Given the description of an element on the screen output the (x, y) to click on. 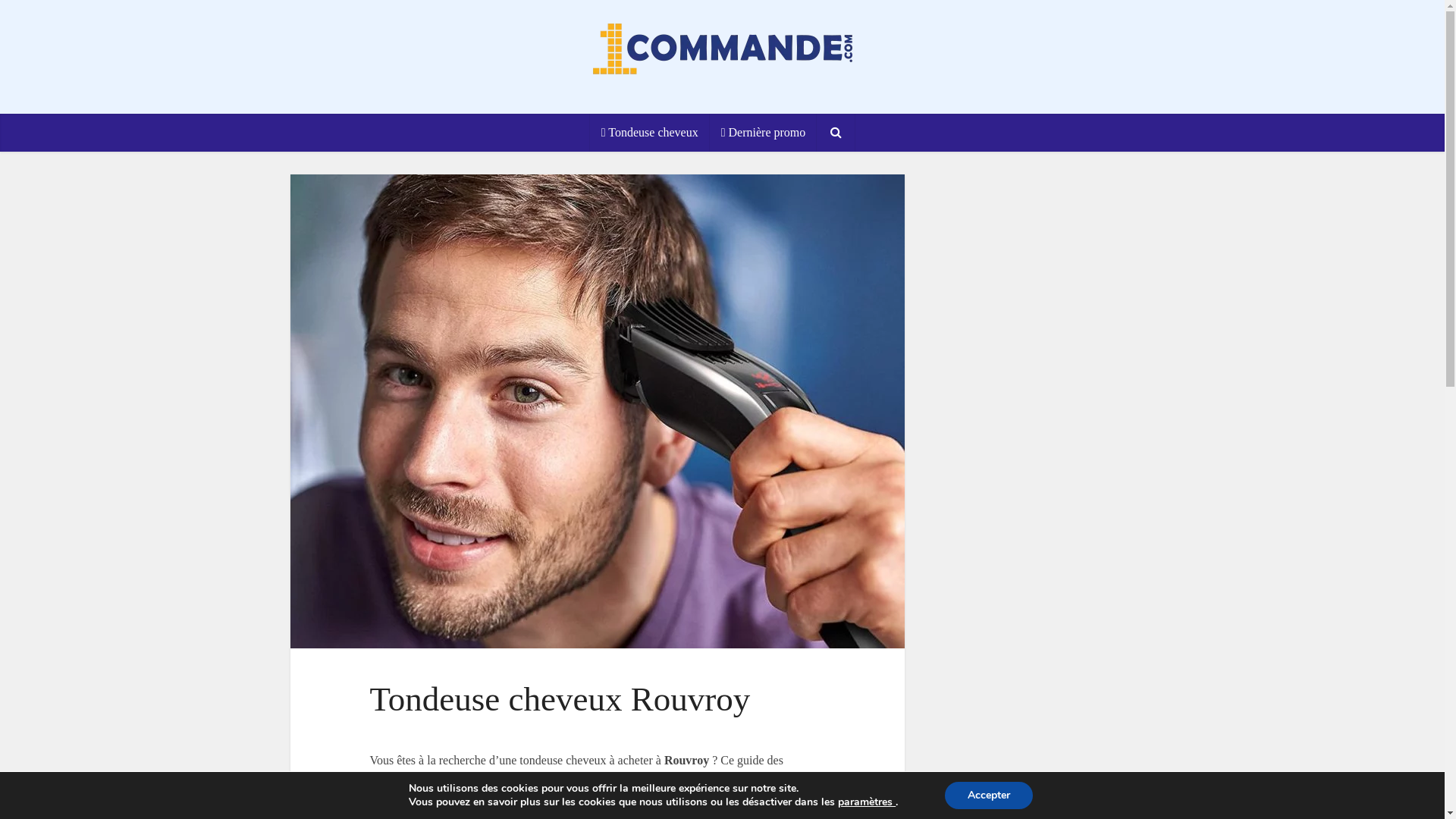
Accepter Element type: text (988, 795)
